Given the description of an element on the screen output the (x, y) to click on. 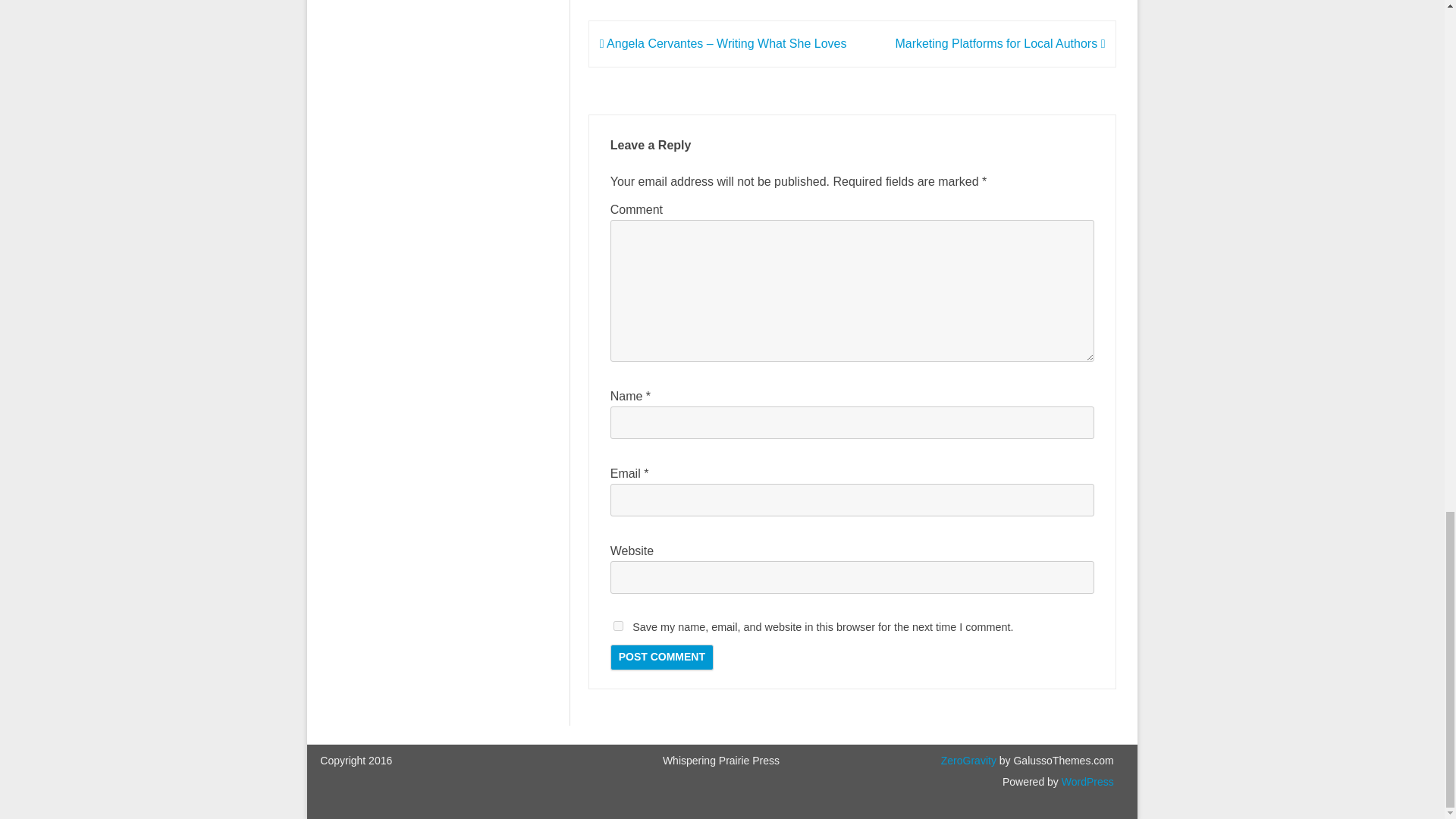
yes (617, 625)
Post Comment (661, 657)
Semantic Personal Publishing Platform (1085, 781)
